Given the description of an element on the screen output the (x, y) to click on. 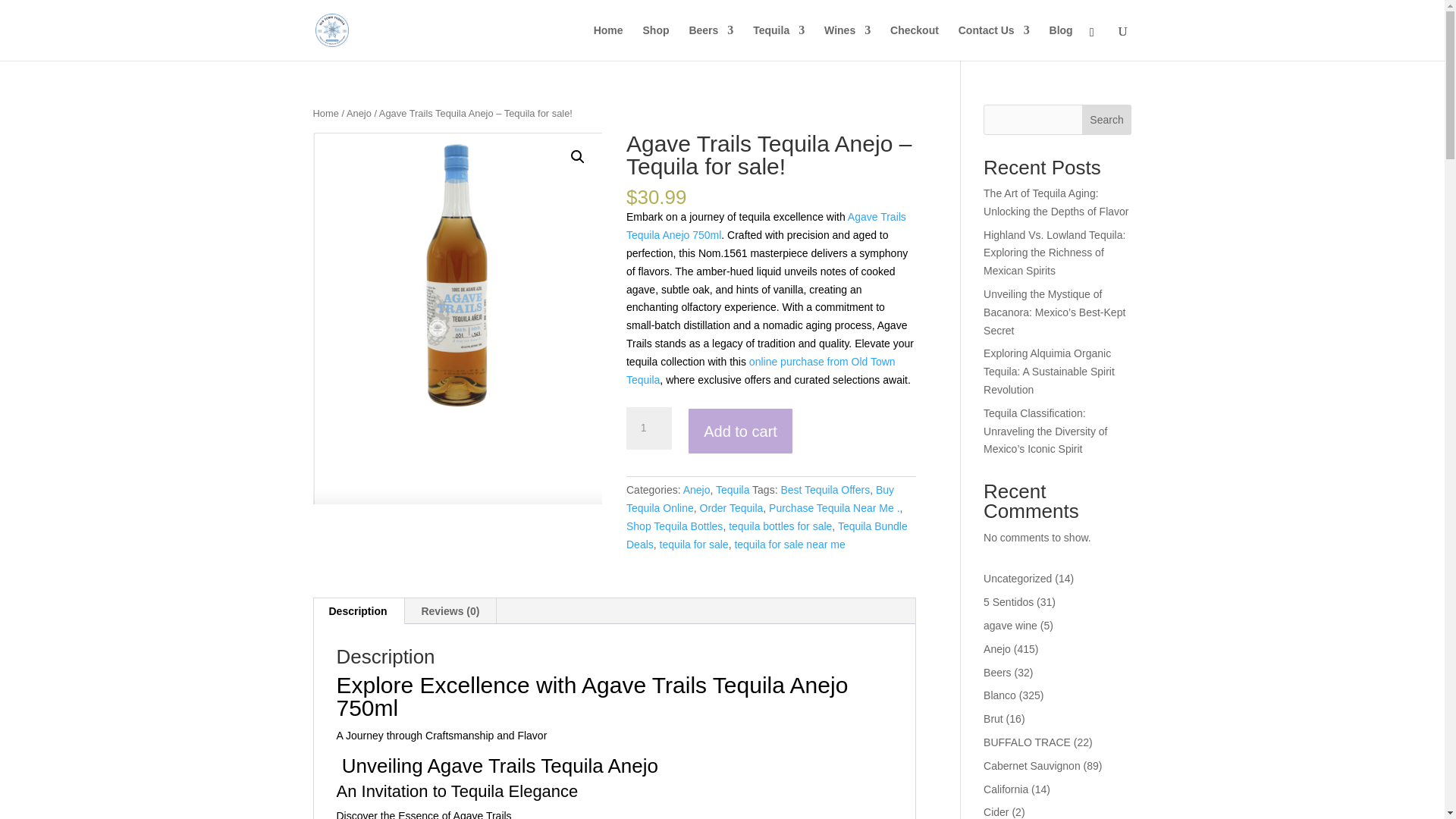
Tequila (778, 42)
Wines (847, 42)
Checkout (914, 42)
Beers (710, 42)
Contact Us (993, 42)
1 (648, 428)
